Given the description of an element on the screen output the (x, y) to click on. 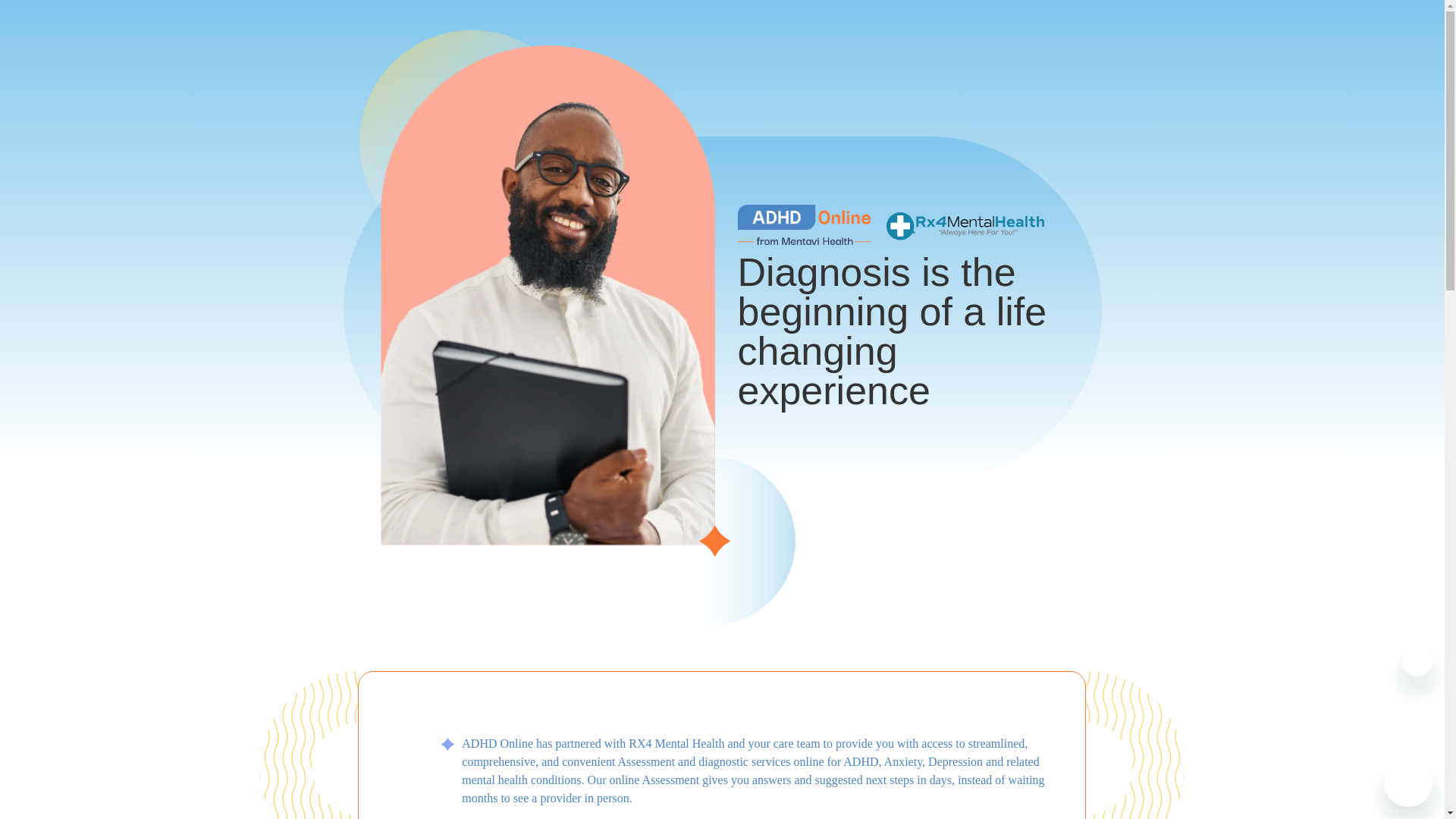
Yellow-Ellipse (425, 104)
gradient-elipse-and-diamond (710, 540)
half-yellow-wave-donut (308, 744)
half-yellow-wave-donut (1135, 744)
